Given the description of an element on the screen output the (x, y) to click on. 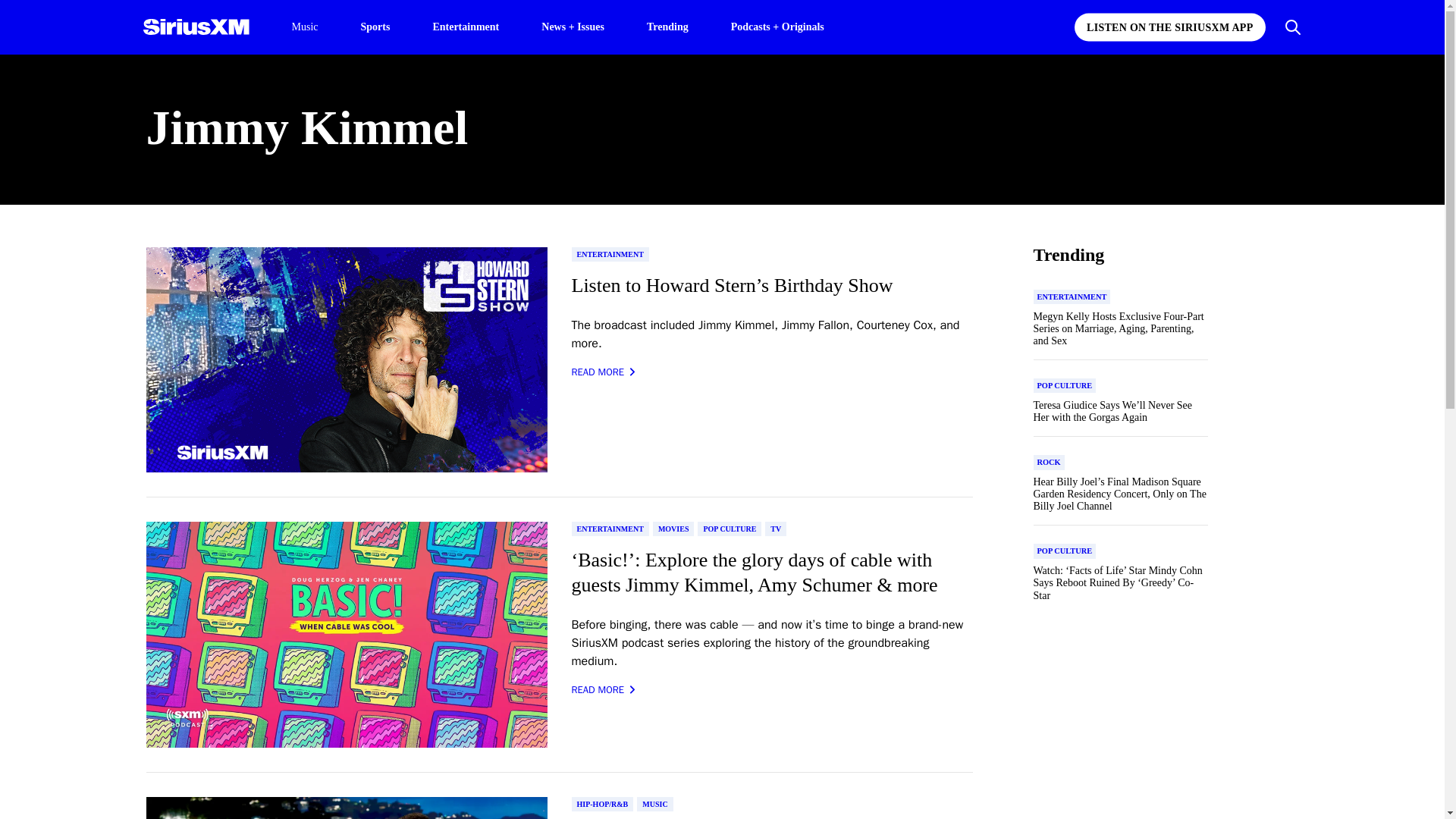
LISTEN ON THE SIRIUSXM APP (1169, 27)
ENTERTAINMENT (610, 528)
MUSIC (654, 803)
POP CULTURE (729, 528)
Trending (667, 26)
Sports (375, 26)
TV (775, 528)
Entertainment (465, 26)
MOVIES (673, 528)
READ MORE (603, 689)
READ MORE (603, 372)
ENTERTAINMENT (610, 254)
Music (304, 26)
